Given the description of an element on the screen output the (x, y) to click on. 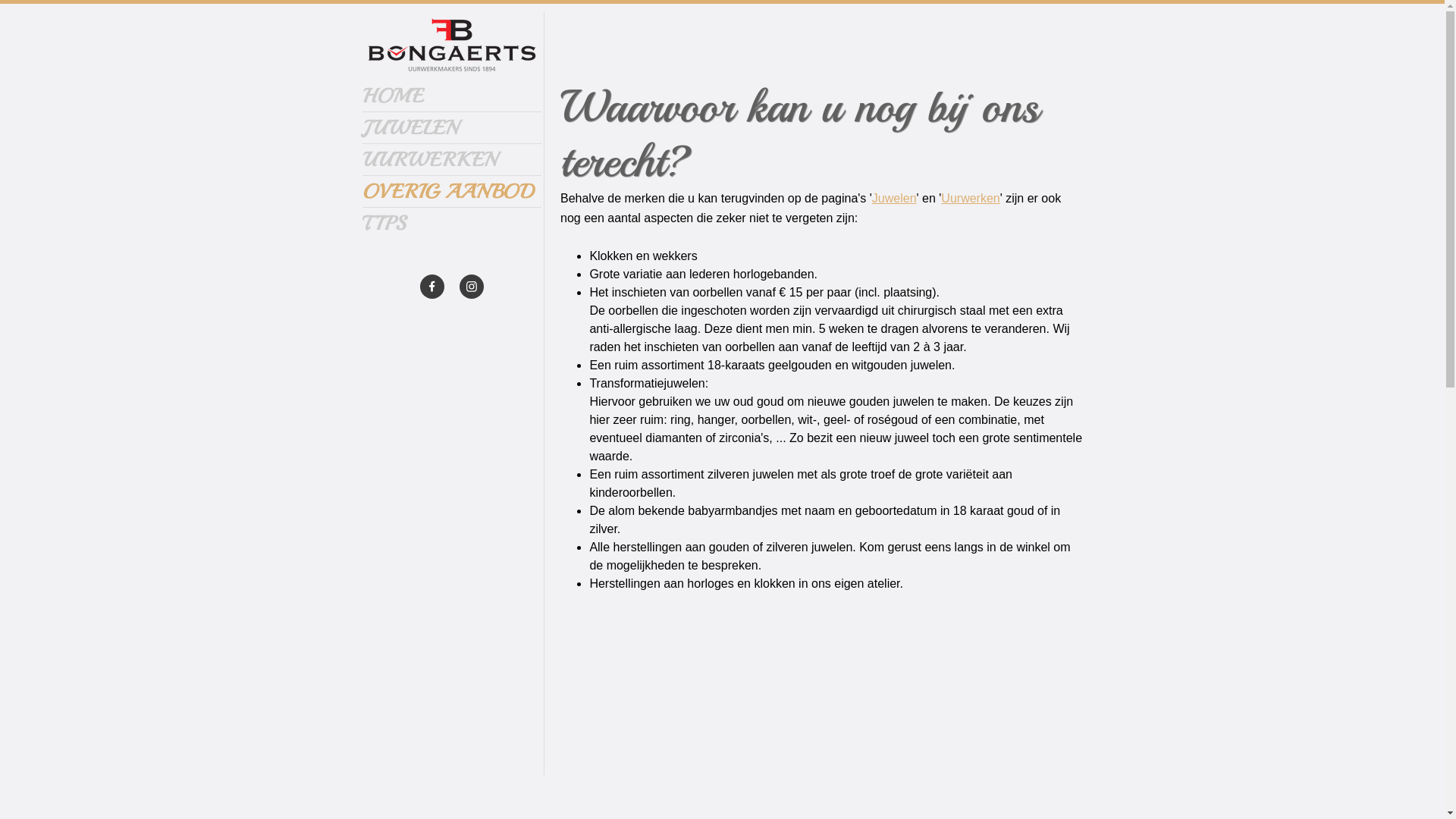
TIPS Element type: text (451, 222)
Juwelen Element type: text (894, 197)
UURWERKEN Element type: text (451, 159)
HOME Element type: text (451, 95)
OVERIG AANBOD Element type: text (451, 191)
JUWELEN Element type: text (451, 127)
Uurwerken Element type: text (970, 197)
